Given the description of an element on the screen output the (x, y) to click on. 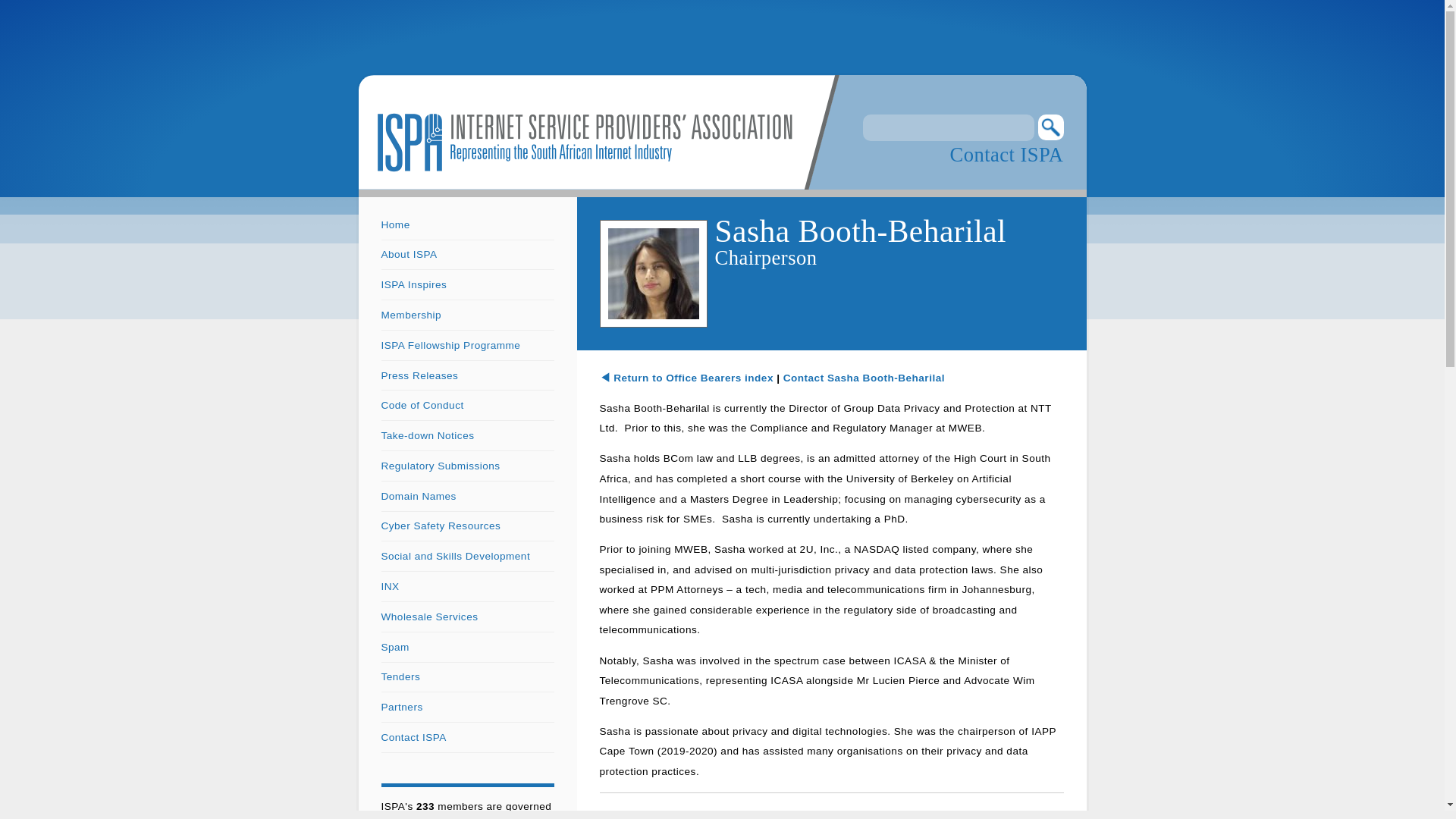
ISPA Fellowship Programme (449, 345)
ISPA Inspires (413, 284)
Home (394, 224)
Code of Conduct (421, 405)
Press Releases (419, 375)
Membership (410, 315)
Take-down Notices (427, 435)
About ISPA (408, 254)
Domain Names (417, 496)
Social and Skills Development (454, 555)
